Given the description of an element on the screen output the (x, y) to click on. 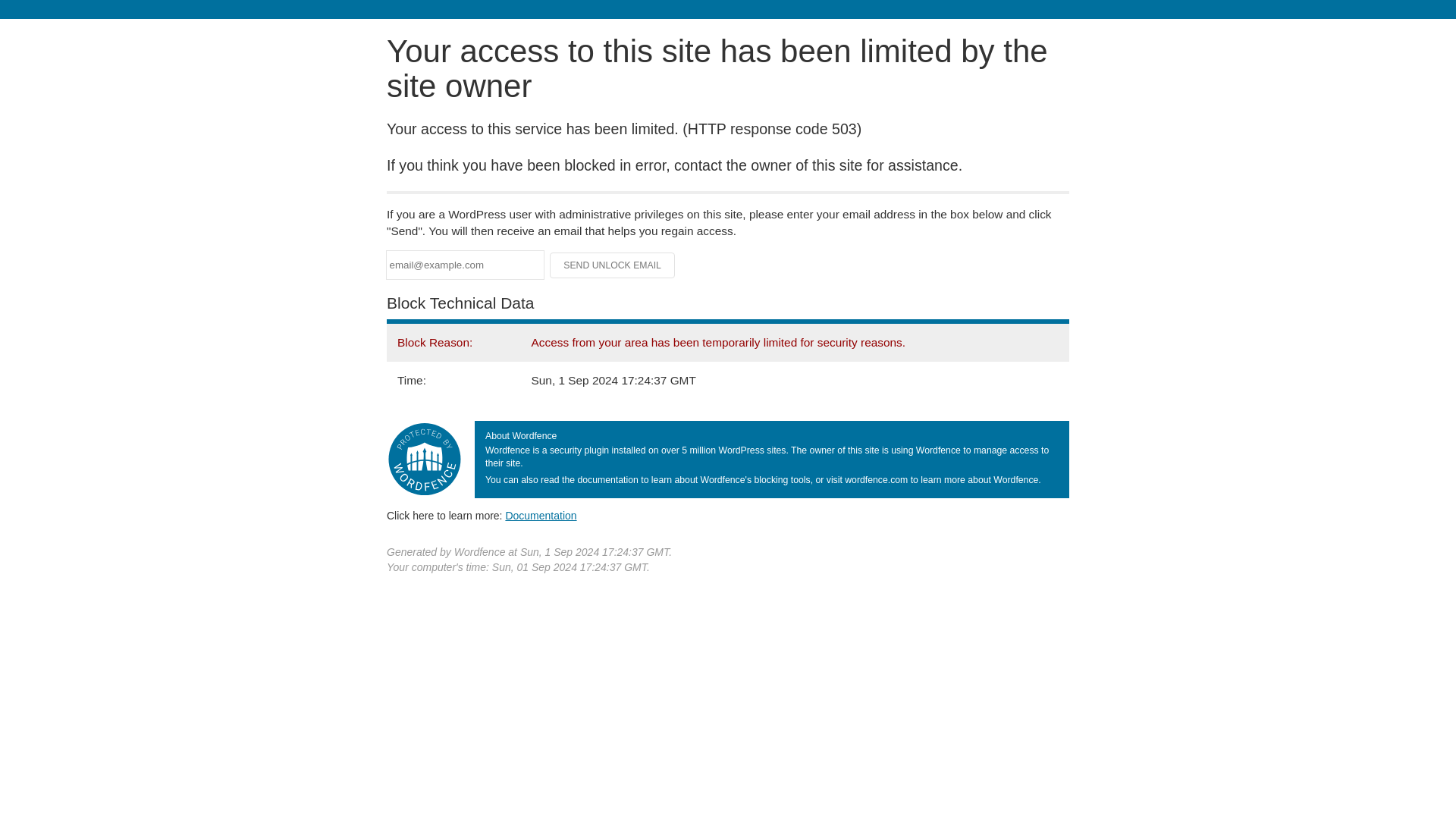
Documentation (540, 515)
Send Unlock Email (612, 265)
Send Unlock Email (612, 265)
